Given the description of an element on the screen output the (x, y) to click on. 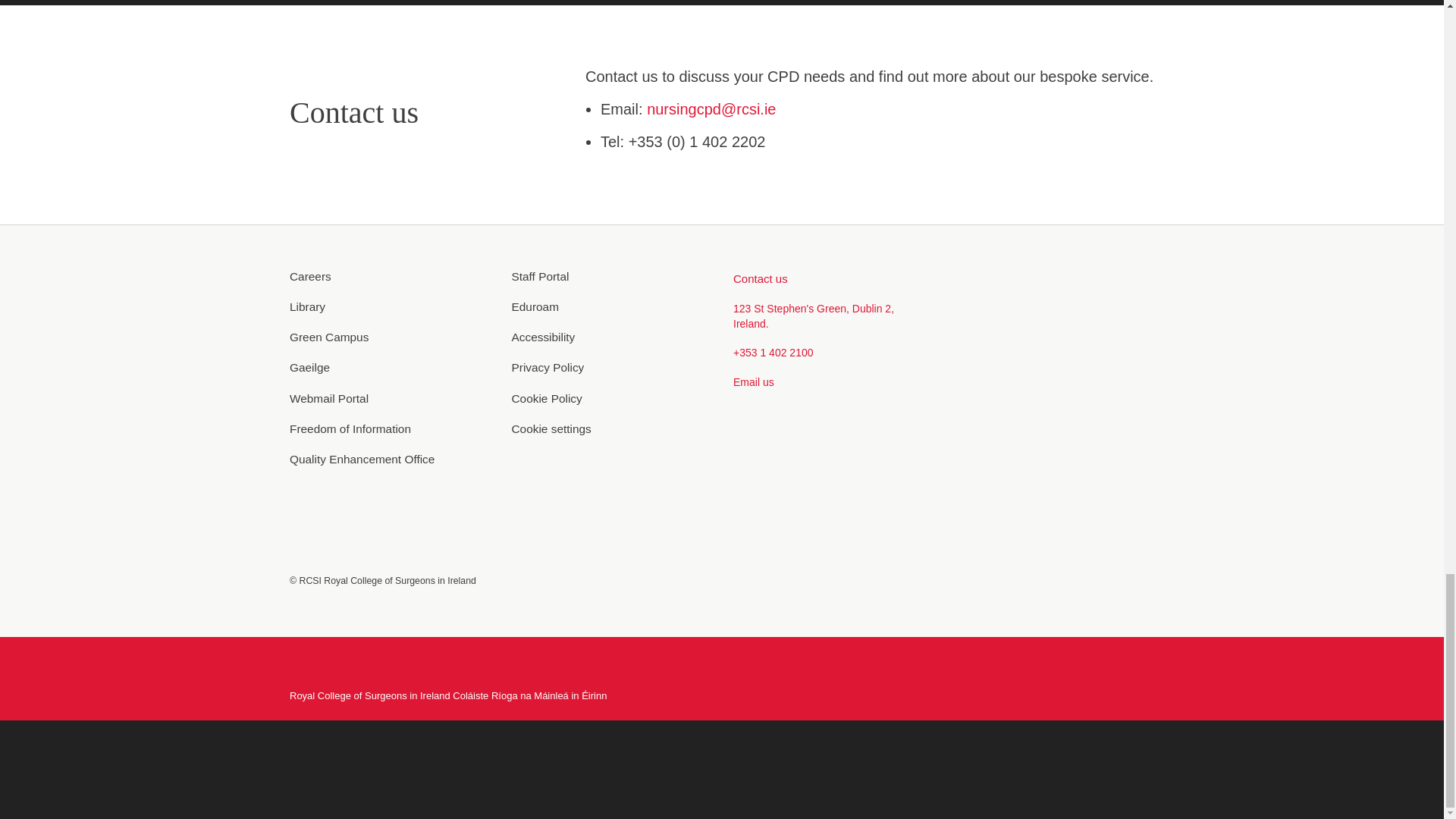
Careers (389, 276)
Green Campus (389, 336)
Quality Enhancement Office (389, 458)
Gaeilge (389, 366)
Freedom of Information (389, 428)
Library (389, 306)
Webmail Portal (389, 397)
